Given the description of an element on the screen output the (x, y) to click on. 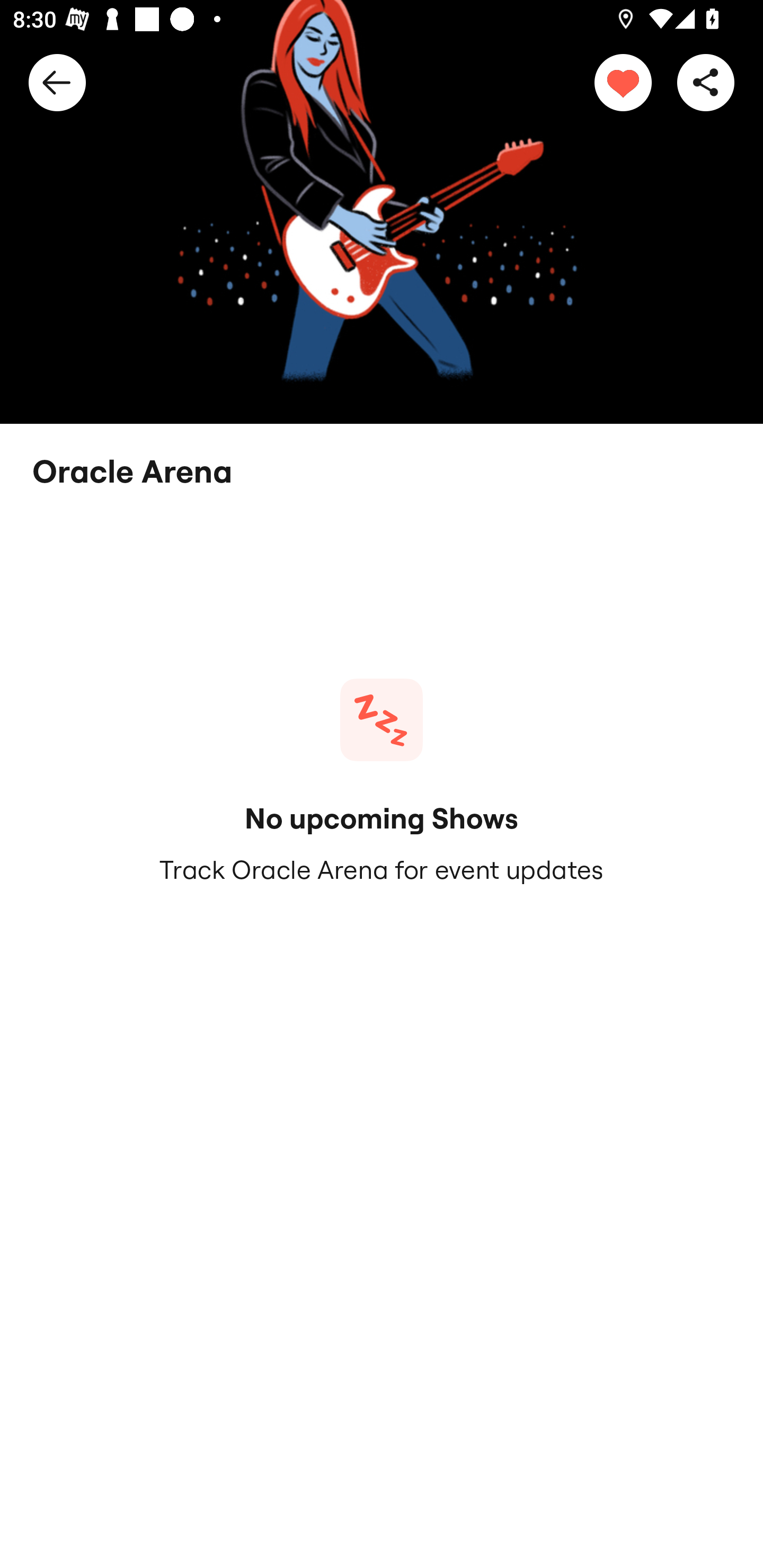
Back (57, 81)
Track this performer (623, 81)
Share this performer (705, 81)
